Given the description of an element on the screen output the (x, y) to click on. 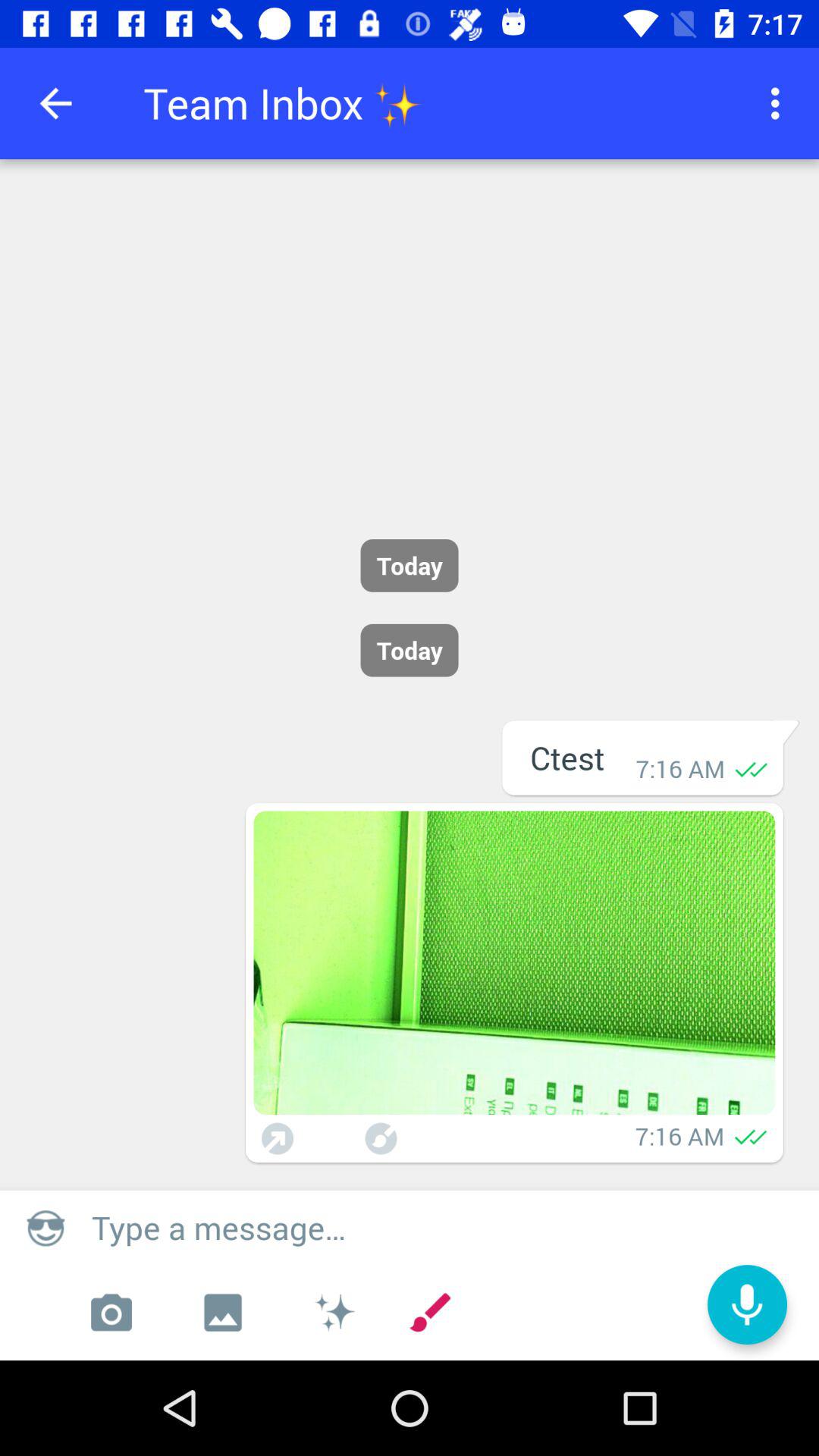
message box (447, 1227)
